Given the description of an element on the screen output the (x, y) to click on. 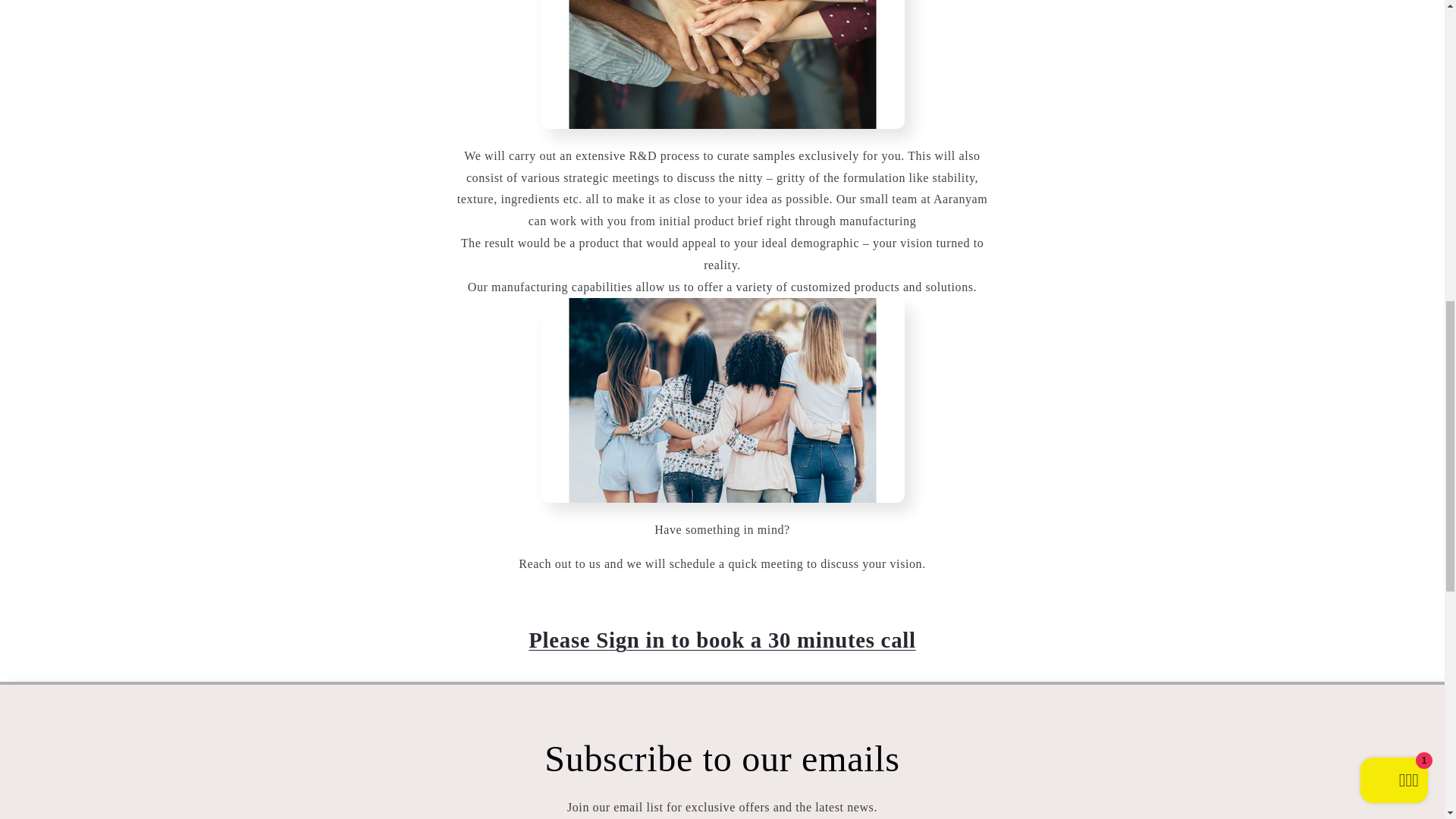
Please Sign to Book a 30 minutes call  (721, 639)
